Given the description of an element on the screen output the (x, y) to click on. 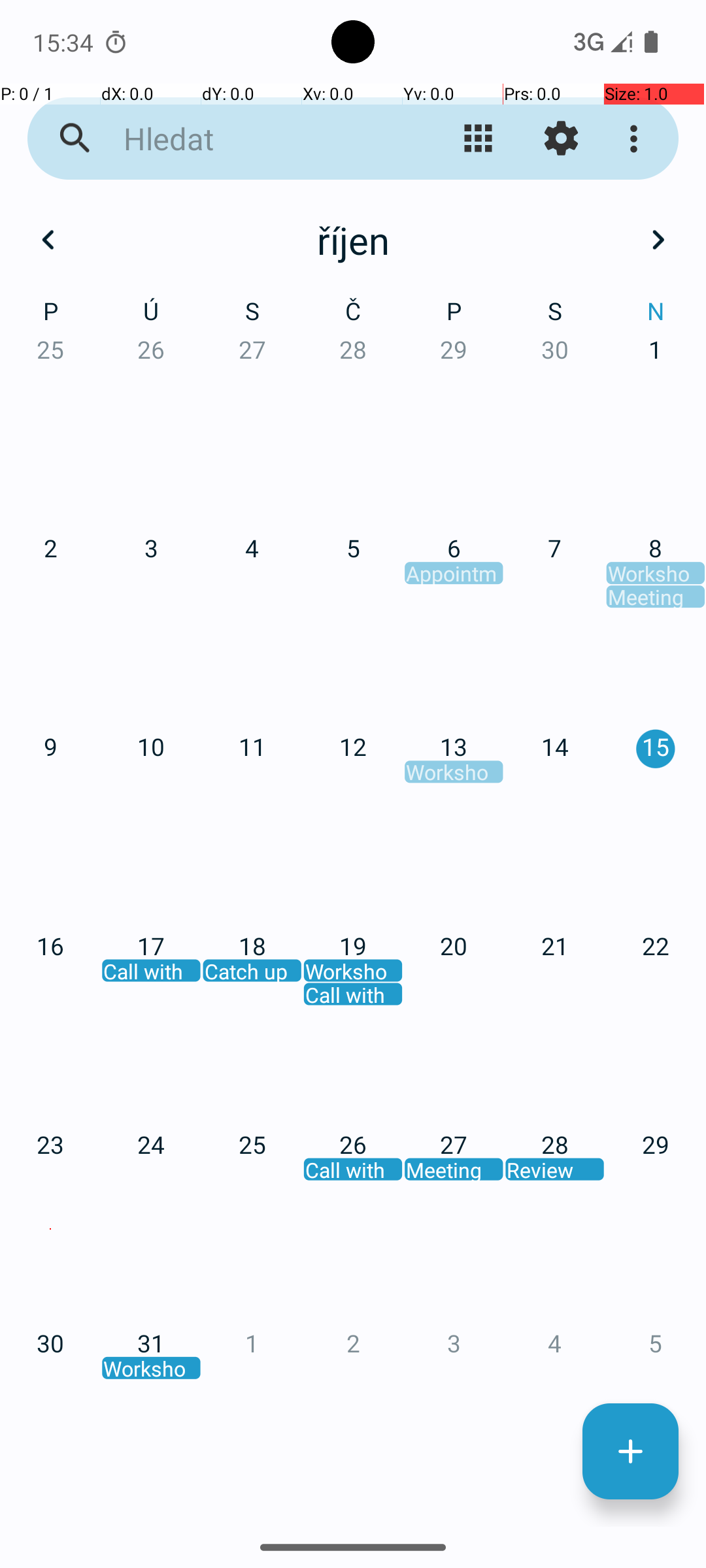
říjen Element type: android.widget.TextView (352, 239)
